Given the description of an element on the screen output the (x, y) to click on. 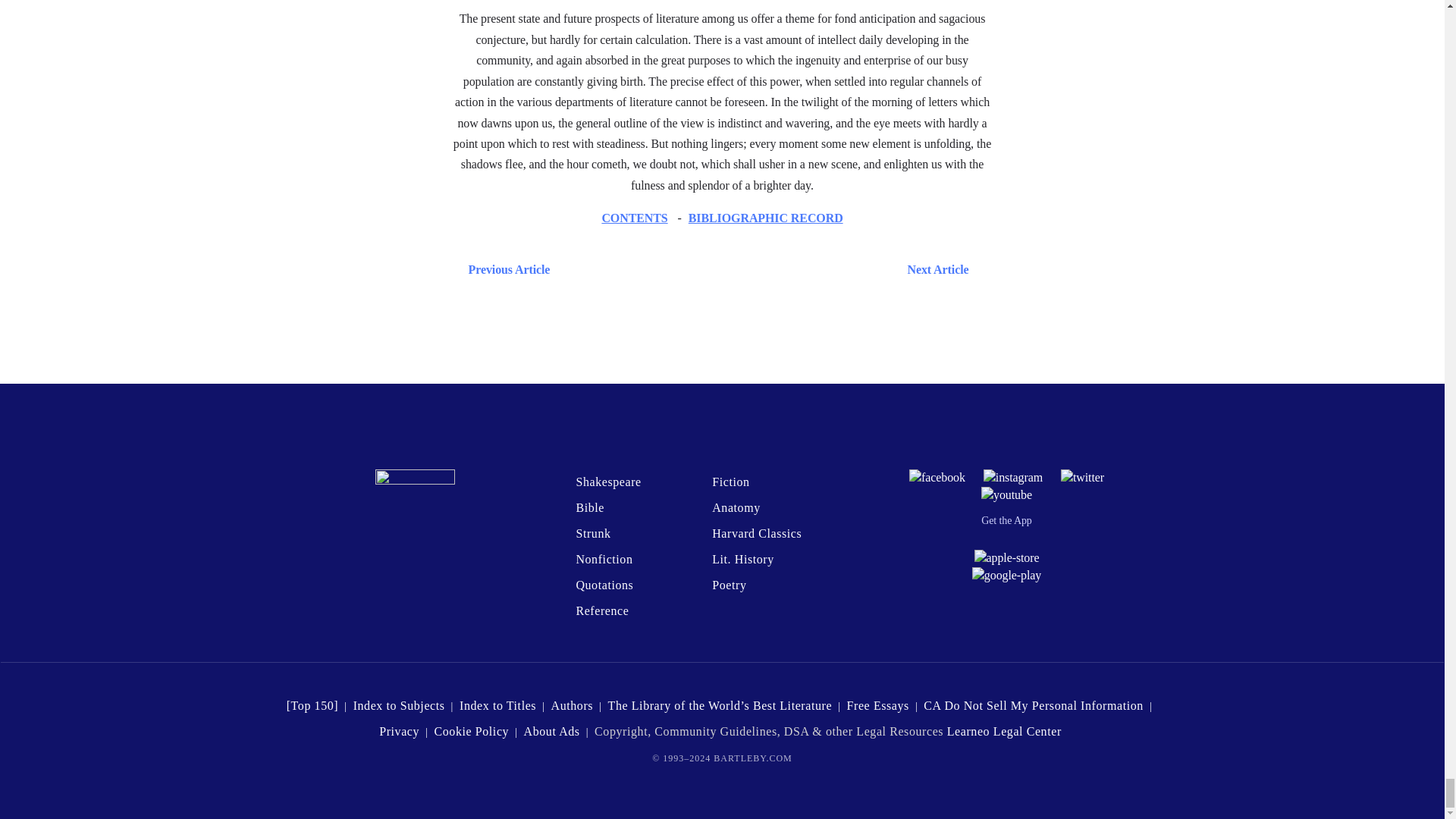
Shakespeare (607, 481)
Lit. History (742, 558)
Next Article (766, 269)
Reference (601, 610)
Poetry (728, 584)
Previous Article (505, 269)
Harvard Classics (756, 533)
CONTENTS (633, 217)
BIBLIOGRAPHIC RECORD (765, 217)
Quotations (604, 584)
